Given the description of an element on the screen output the (x, y) to click on. 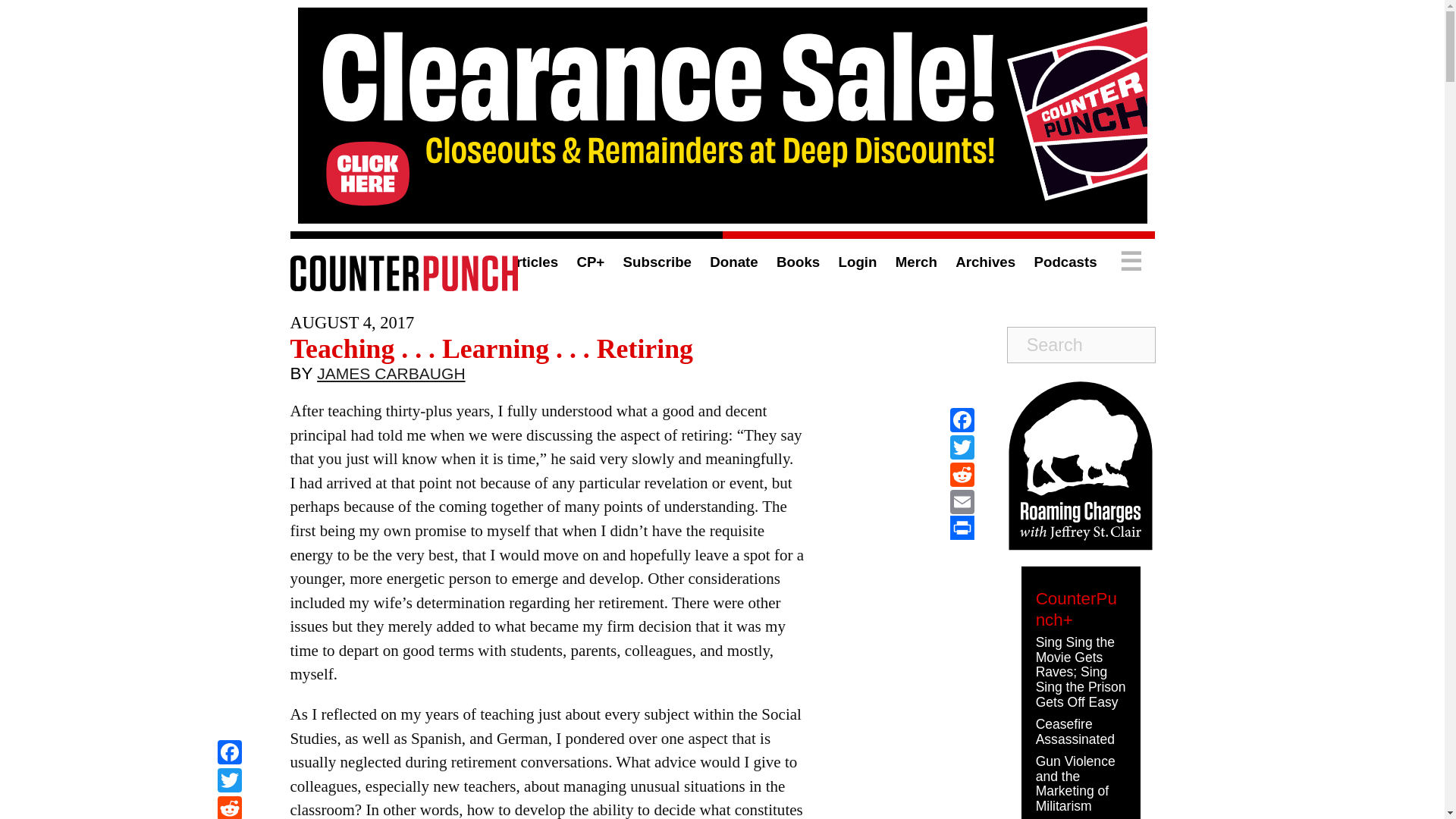
Ceasefire Assassinated (1075, 731)
JAMES CARBAUGH (390, 376)
Reddit (962, 474)
Twitter (962, 447)
Donate (733, 261)
Podcasts (1064, 261)
Twitter (229, 782)
Books (797, 261)
Gun Violence and the Marketing of Militarism (1075, 783)
Articles (531, 261)
Email (962, 501)
Subscribe (657, 261)
Merch (916, 261)
Archives (984, 261)
Print This Post (962, 527)
